Given the description of an element on the screen output the (x, y) to click on. 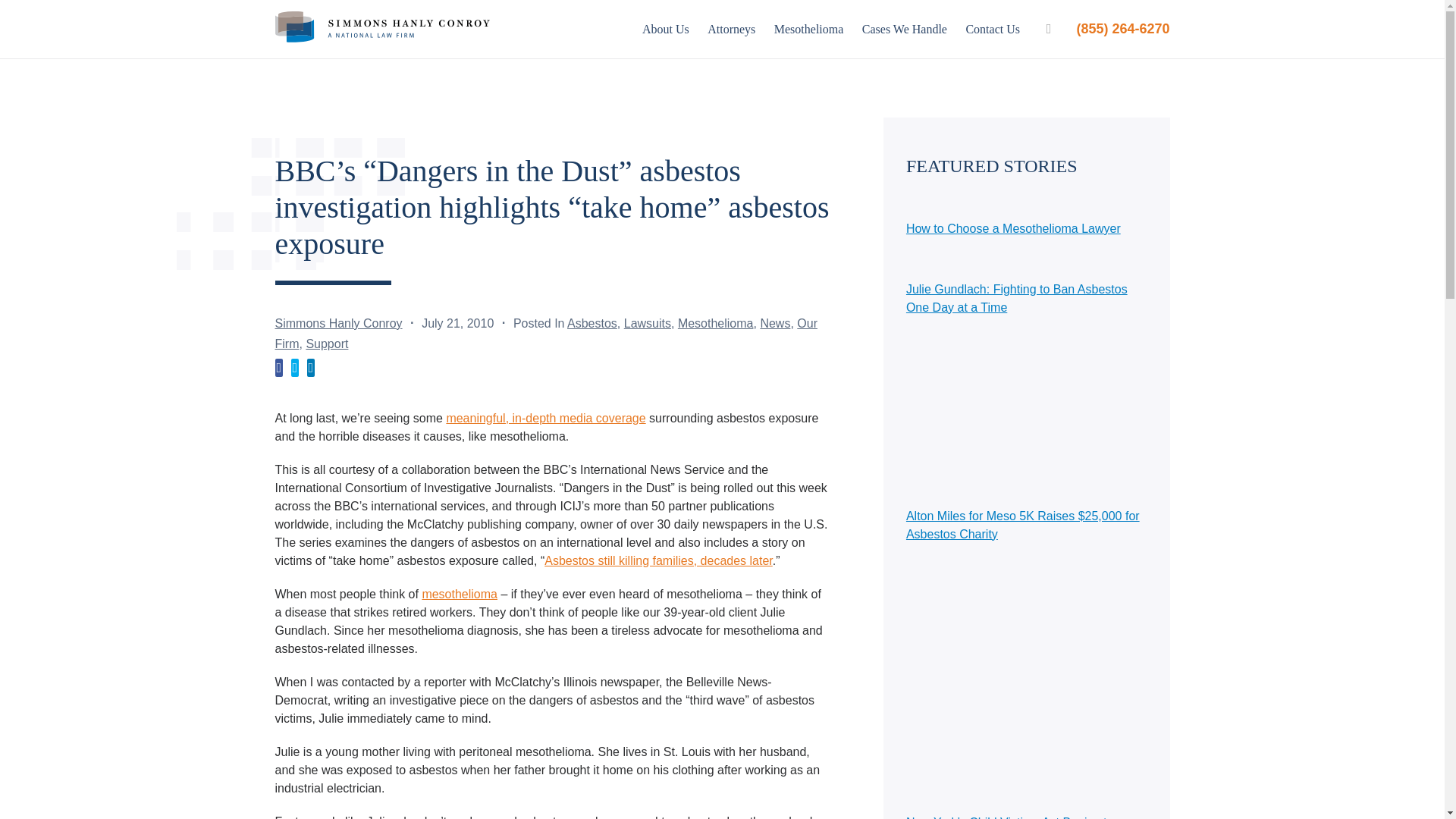
Mesothelioma (809, 28)
Simmons Hanly Conroy - A national law firm (382, 29)
